Given the description of an element on the screen output the (x, y) to click on. 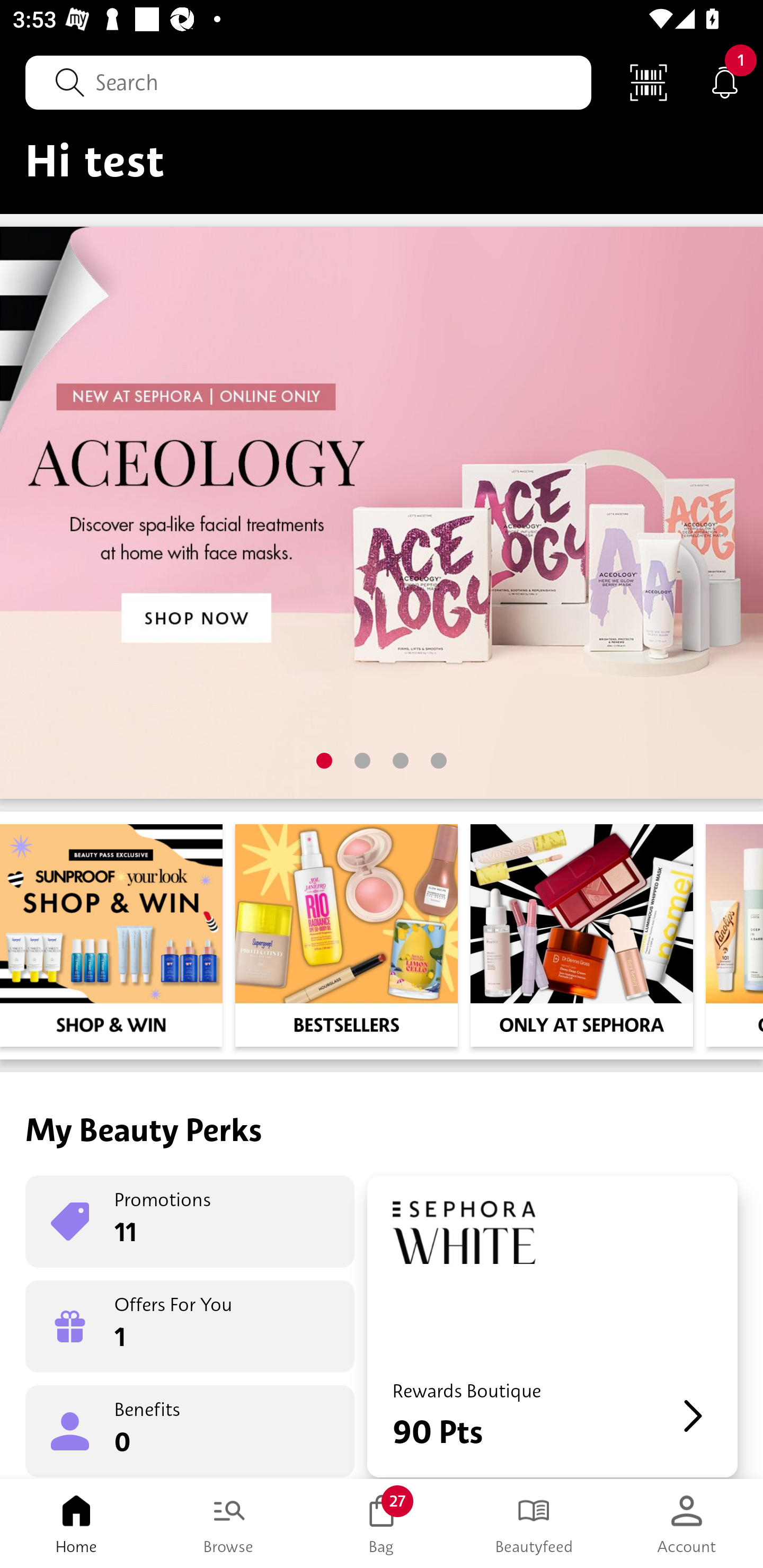
Scan Code (648, 81)
Notifications (724, 81)
Search (308, 81)
Promotions 11 (189, 1221)
Rewards Boutique 90 Pts (552, 1326)
Offers For You 1 (189, 1326)
Benefits 0 (189, 1430)
Browse (228, 1523)
Bag 27 Bag (381, 1523)
Beautyfeed (533, 1523)
Account (686, 1523)
